Given the description of an element on the screen output the (x, y) to click on. 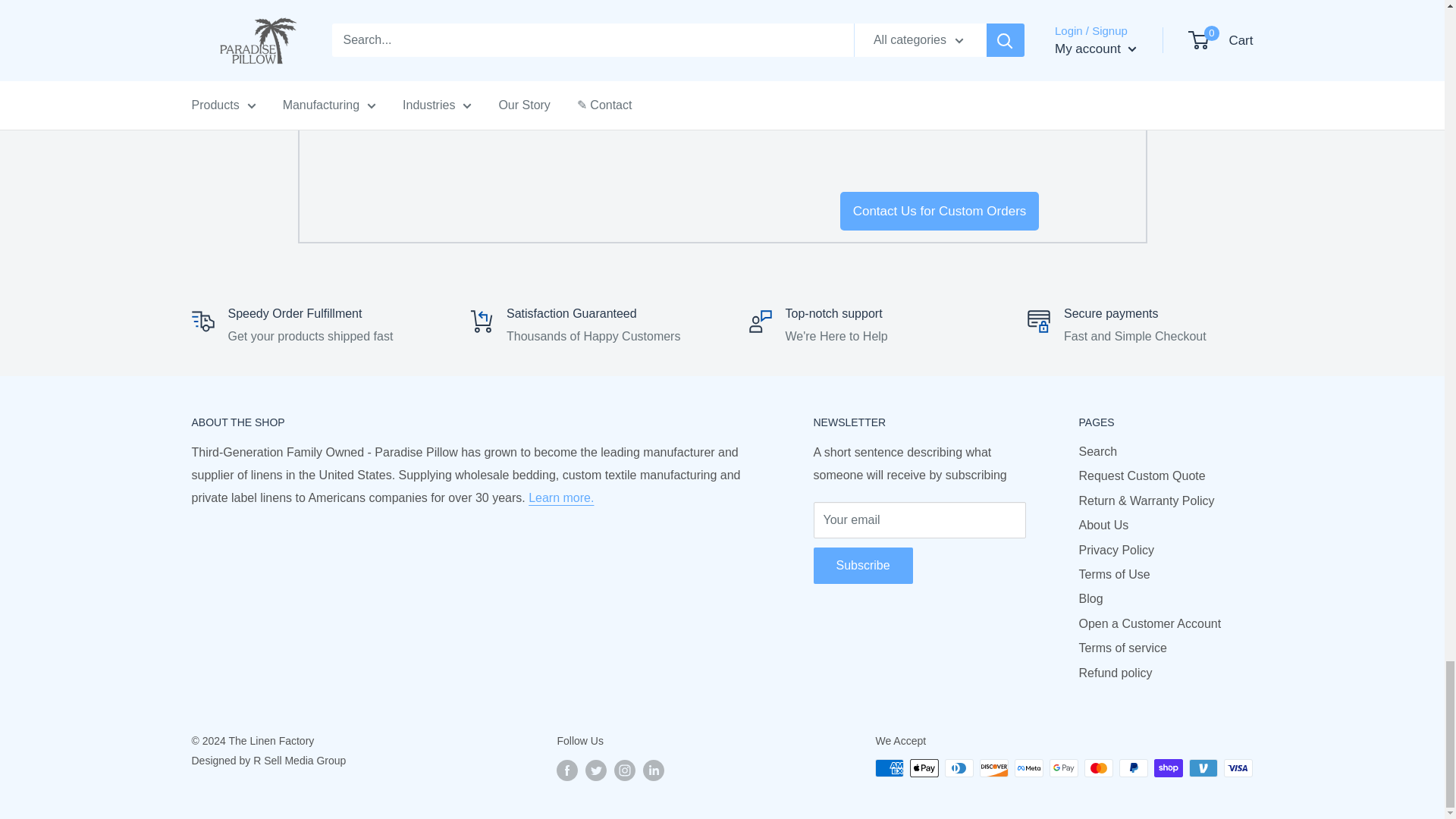
About Us (561, 497)
